Given the description of an element on the screen output the (x, y) to click on. 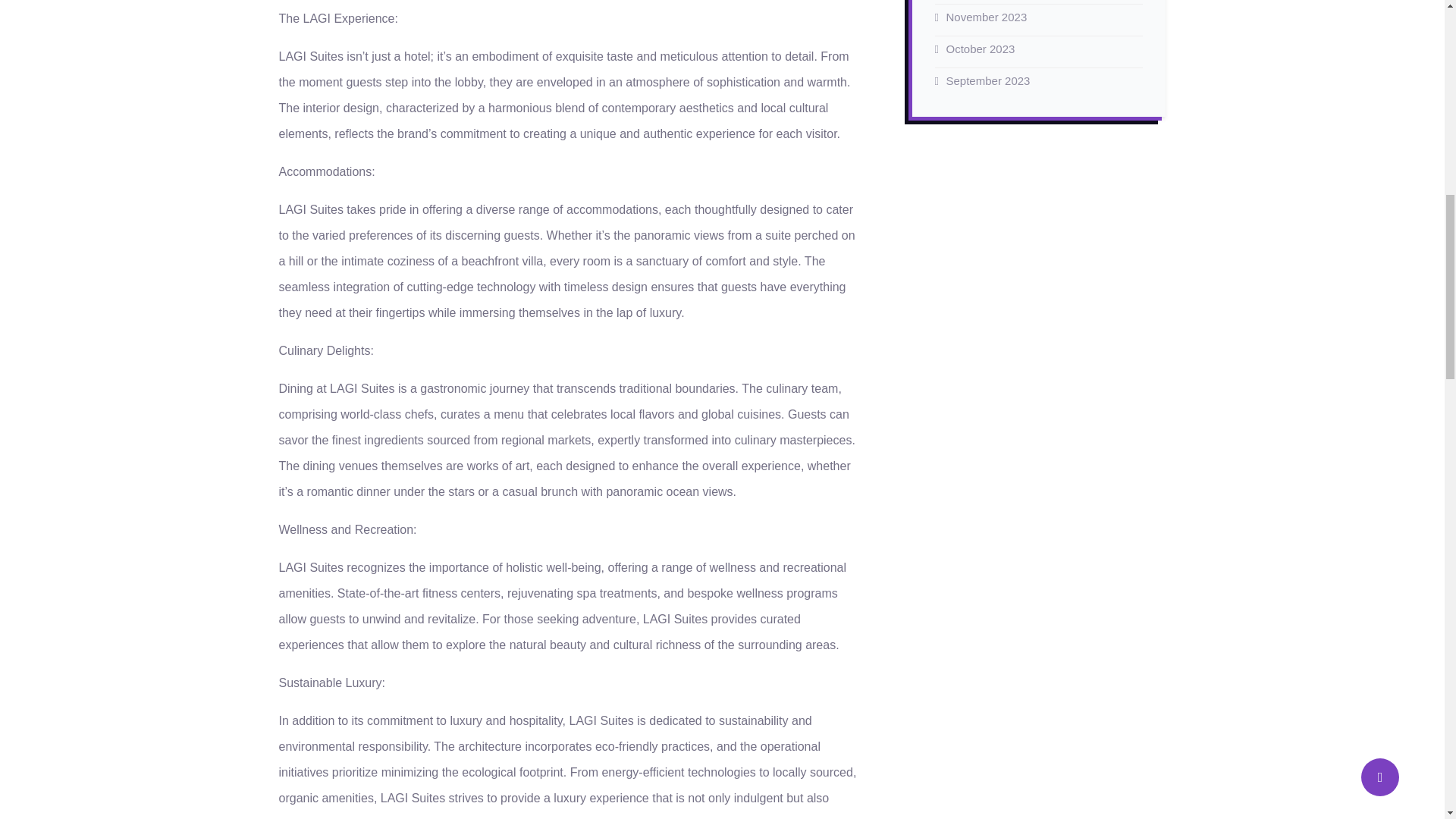
November 2023 (986, 16)
October 2023 (980, 48)
September 2023 (988, 80)
